Given the description of an element on the screen output the (x, y) to click on. 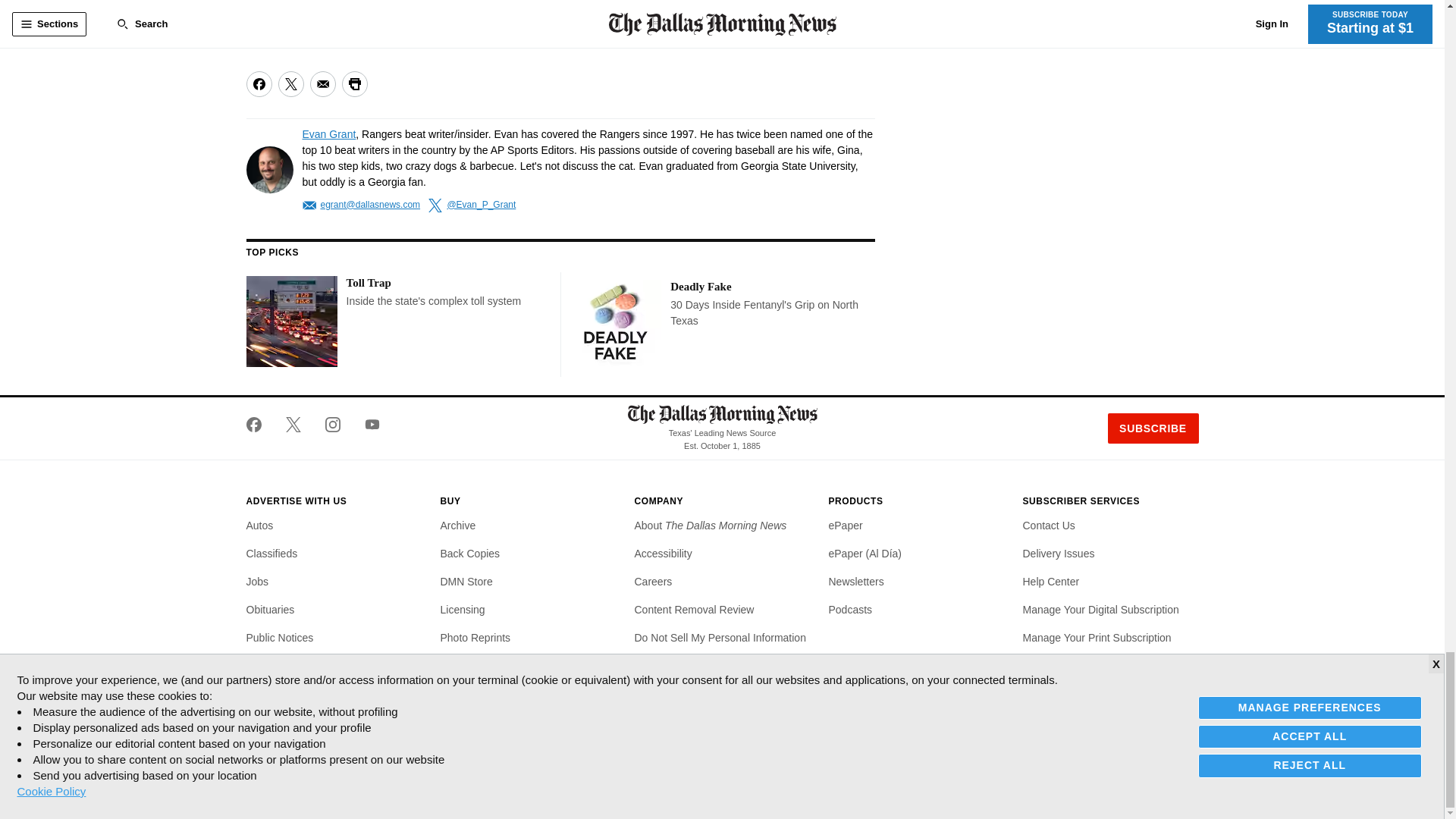
Share via Email (321, 84)
Share on Twitter (290, 84)
The Dallas Morning News on Instagram (332, 424)
The Dallas Morning News on YouTube (365, 424)
Print (353, 84)
The Dallas Morning News on Twitter (293, 424)
The Dallas Morning News on Facebook (259, 424)
Share on Facebook (258, 84)
